Given the description of an element on the screen output the (x, y) to click on. 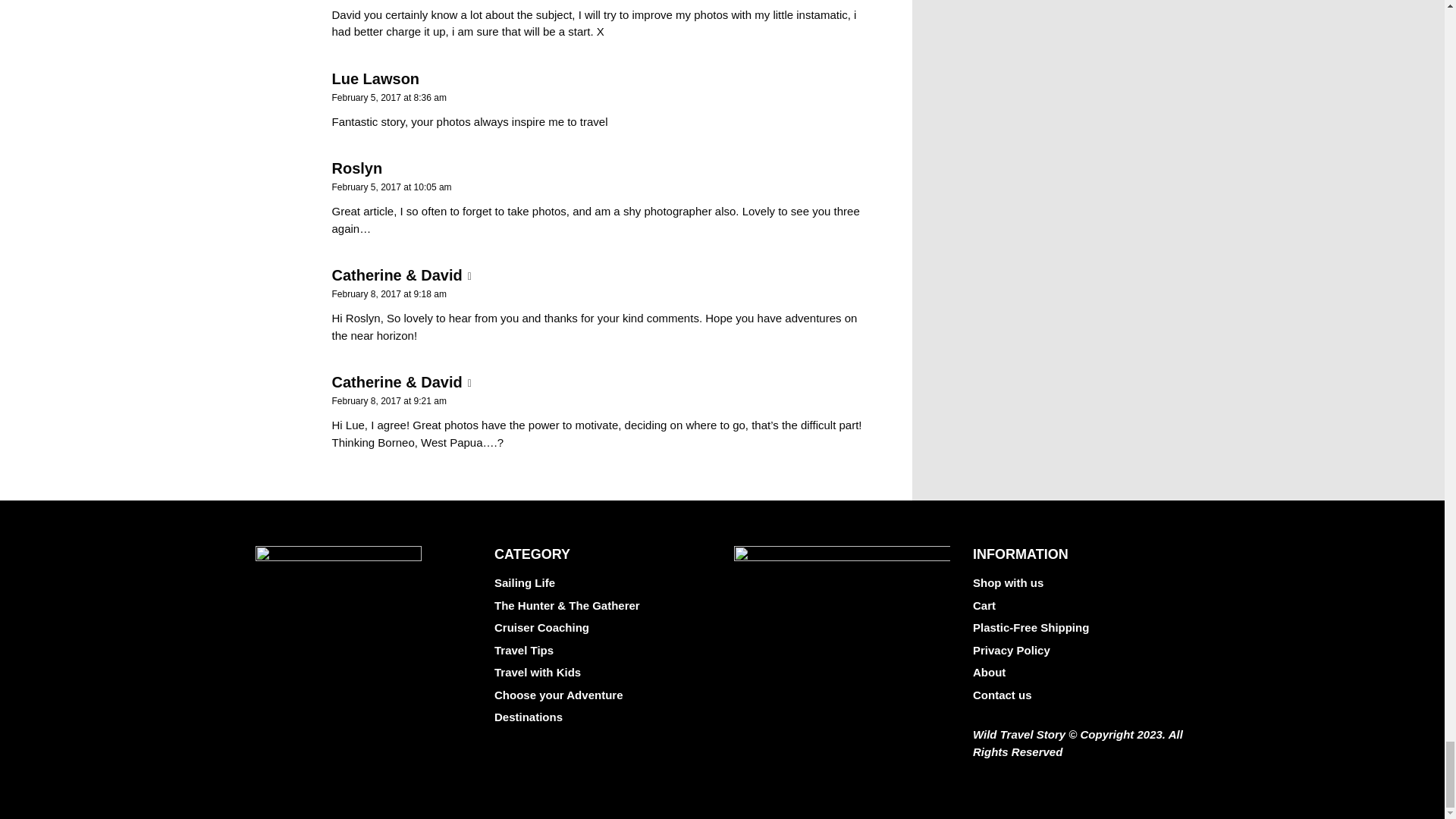
February 8, 2017 at 9:21 am (388, 400)
February 5, 2017 at 8:36 am (388, 97)
February 8, 2017 at 9:18 am (388, 294)
February 5, 2017 at 10:05 am (391, 186)
